Given the description of an element on the screen output the (x, y) to click on. 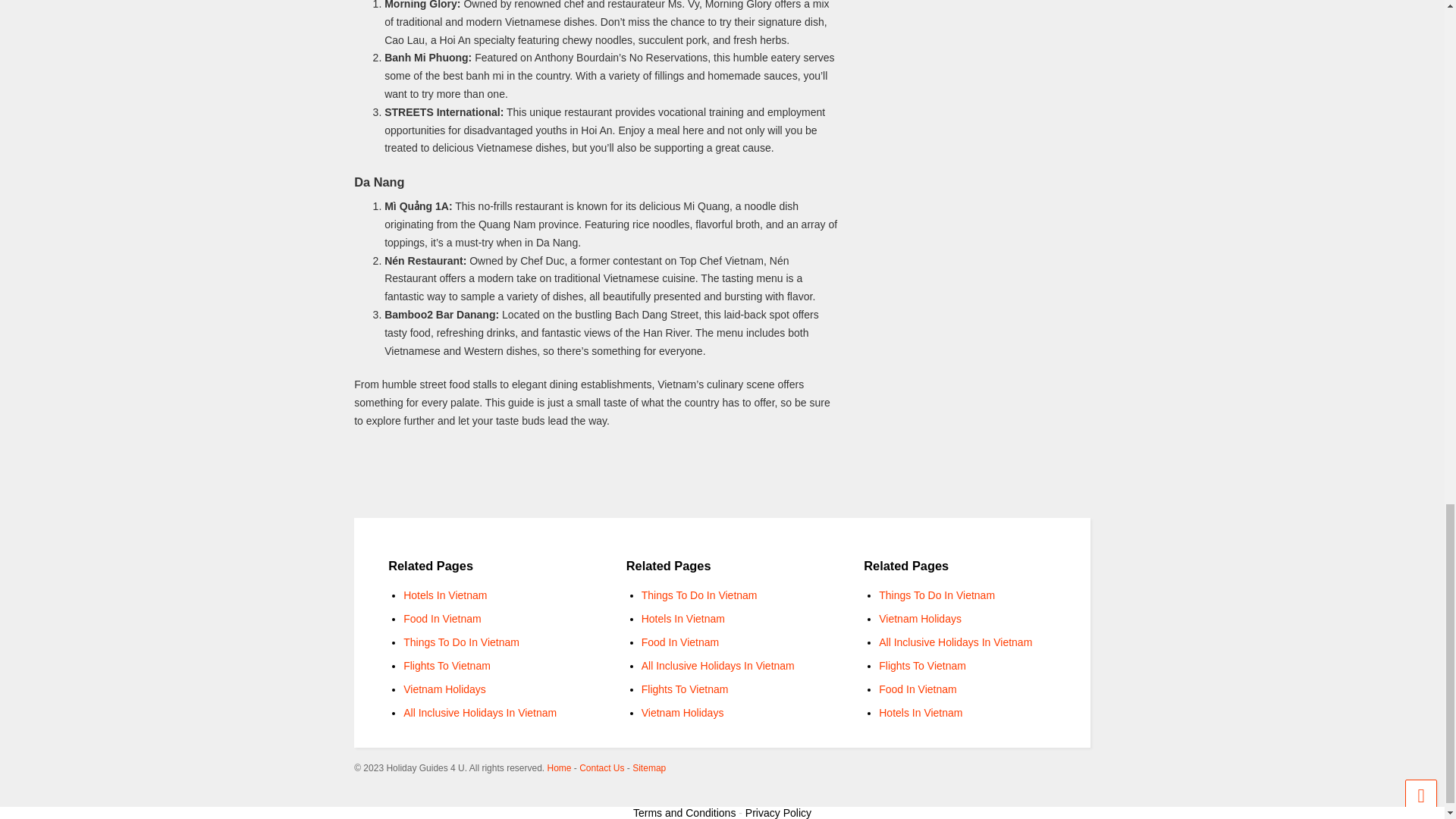
Food In Vietnam (441, 618)
Contact Us (601, 767)
Flights To Vietnam (922, 665)
Sitemap (648, 767)
Vietnam Holidays (444, 689)
Flights To Vietnam (685, 689)
Vietnam Holidays (682, 712)
Things To Do In Vietnam (936, 594)
All Inclusive Holidays In Vietnam (955, 642)
Things To Do In Vietnam (461, 642)
